Given the description of an element on the screen output the (x, y) to click on. 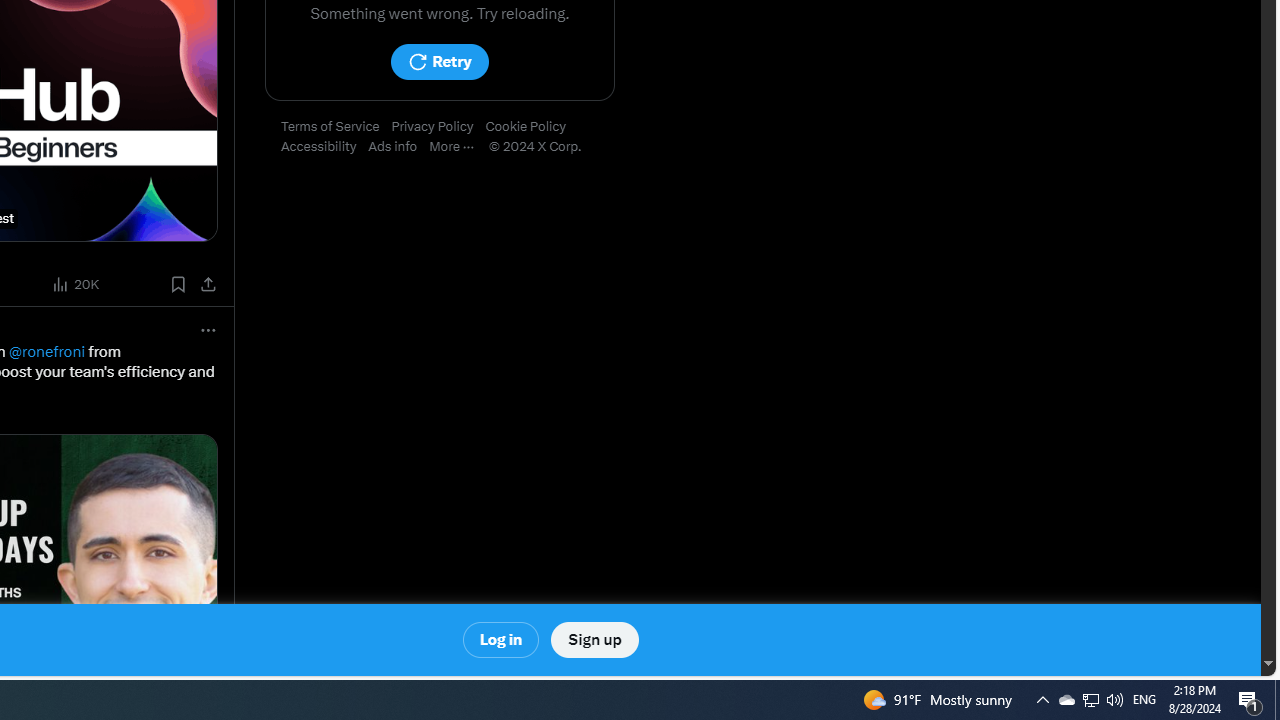
@ronefroni (46, 351)
Terms of Service (336, 127)
More (458, 147)
Retry (439, 61)
Privacy Policy (438, 127)
Cookie Policy (531, 127)
Sign up (594, 640)
Share post (207, 284)
Ads info (399, 147)
Accessibility (324, 147)
Bookmark (177, 284)
Log in (501, 640)
20811 views. View post analytics (77, 284)
